Given the description of an element on the screen output the (x, y) to click on. 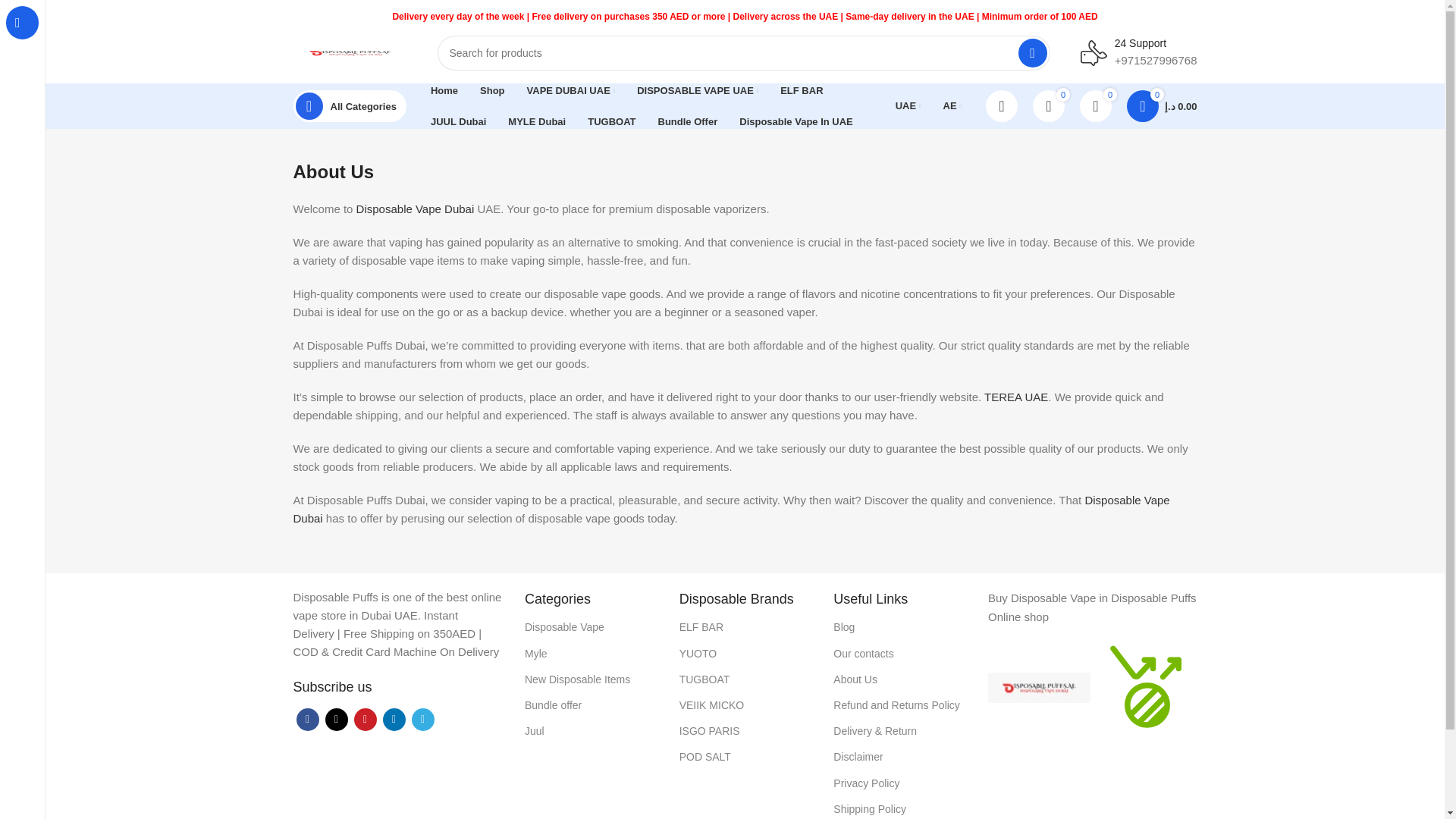
ELF BAR (801, 91)
JUUL Dubai (458, 121)
Bundle Offer (687, 121)
0 (1095, 105)
All Categories (349, 105)
Home (444, 91)
UAE (908, 105)
Compare products (1048, 105)
AE (952, 105)
MYLE Dubai (537, 121)
support (1093, 52)
0 (1048, 105)
Shopping cart (1162, 105)
Disposable Vape In UAE (795, 121)
My Wishlist (1095, 105)
